Given the description of an element on the screen output the (x, y) to click on. 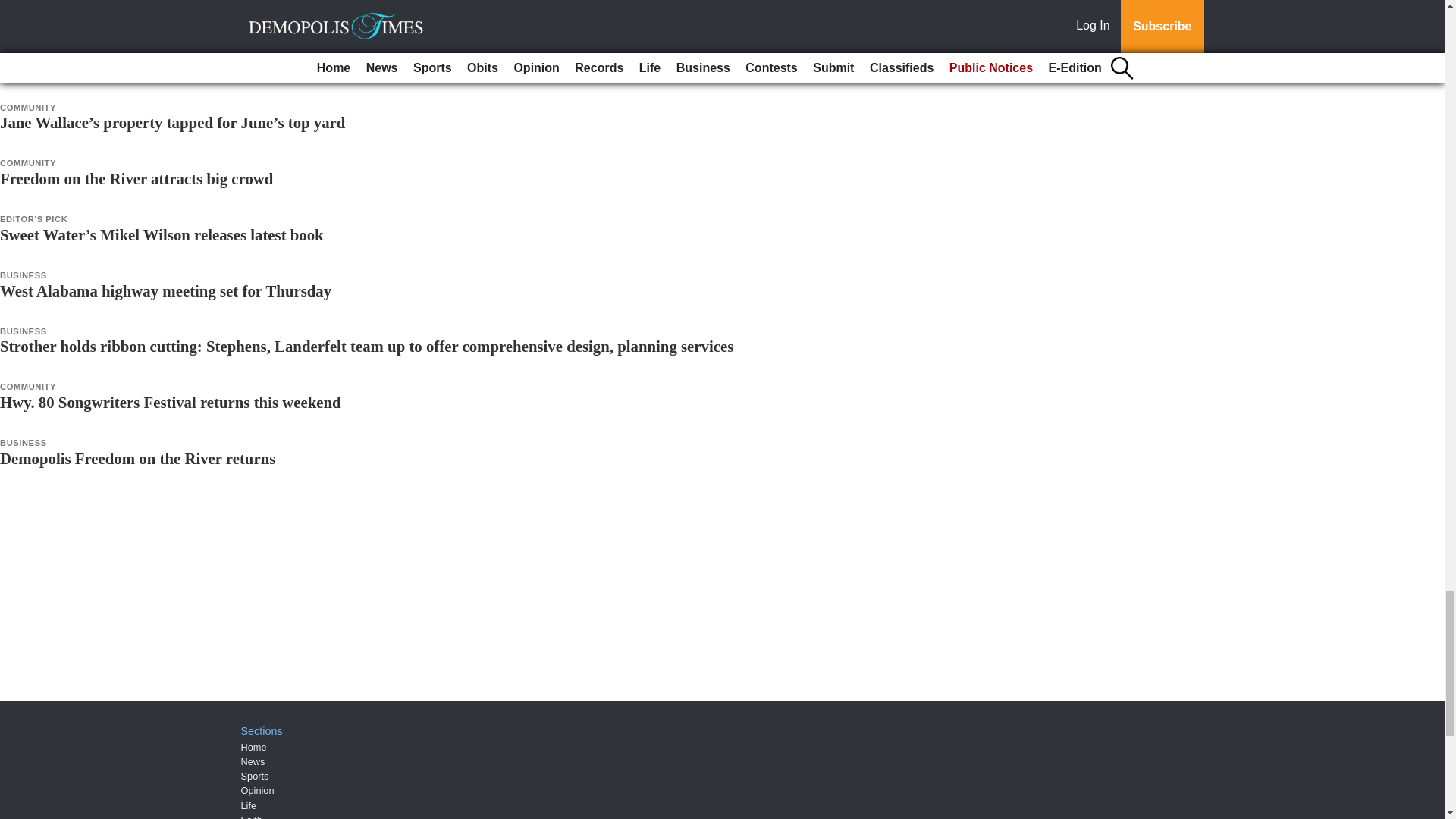
Fred Ridener Brown Jr. (80, 10)
Freedom on the River attracts big crowd (136, 178)
